Given the description of an element on the screen output the (x, y) to click on. 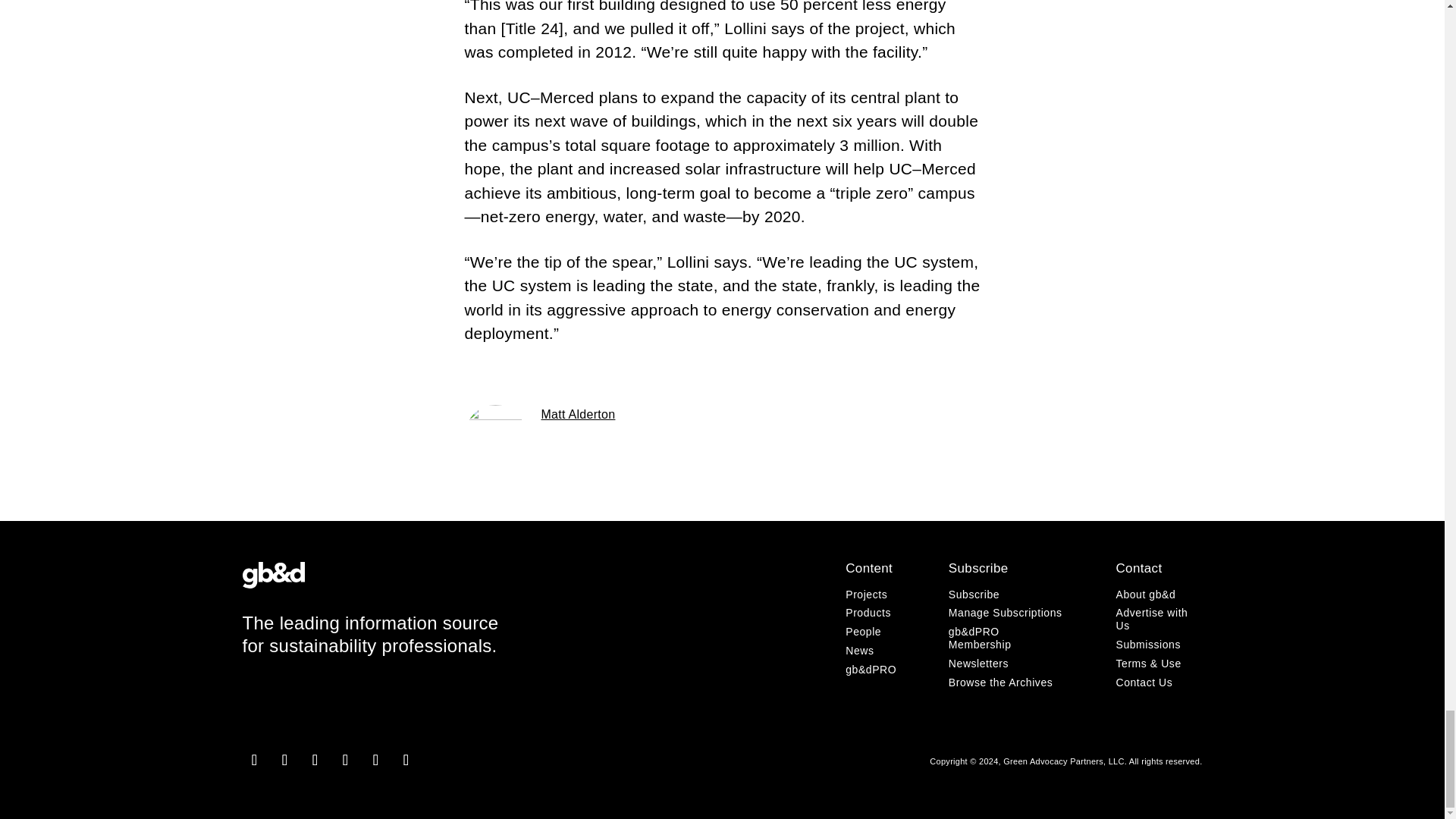
Follow on Facebook (285, 759)
Follow on LinkedIn (314, 759)
Follow on Instagram (254, 759)
Follow on RSS (406, 759)
Matt Alderton (578, 413)
Follow on Twitter (345, 759)
Follow on Youtube (376, 759)
